Given the description of an element on the screen output the (x, y) to click on. 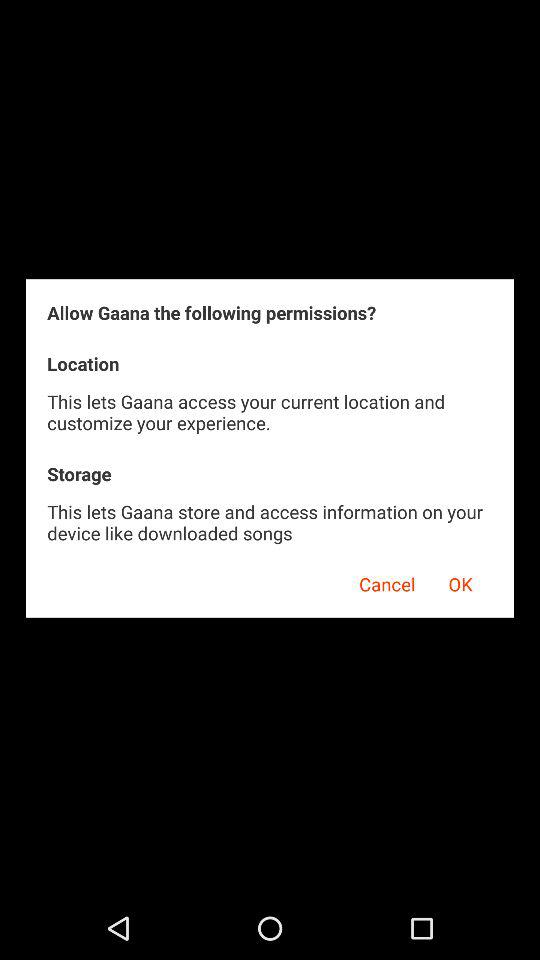
open the item next to the ok app (380, 581)
